Given the description of an element on the screen output the (x, y) to click on. 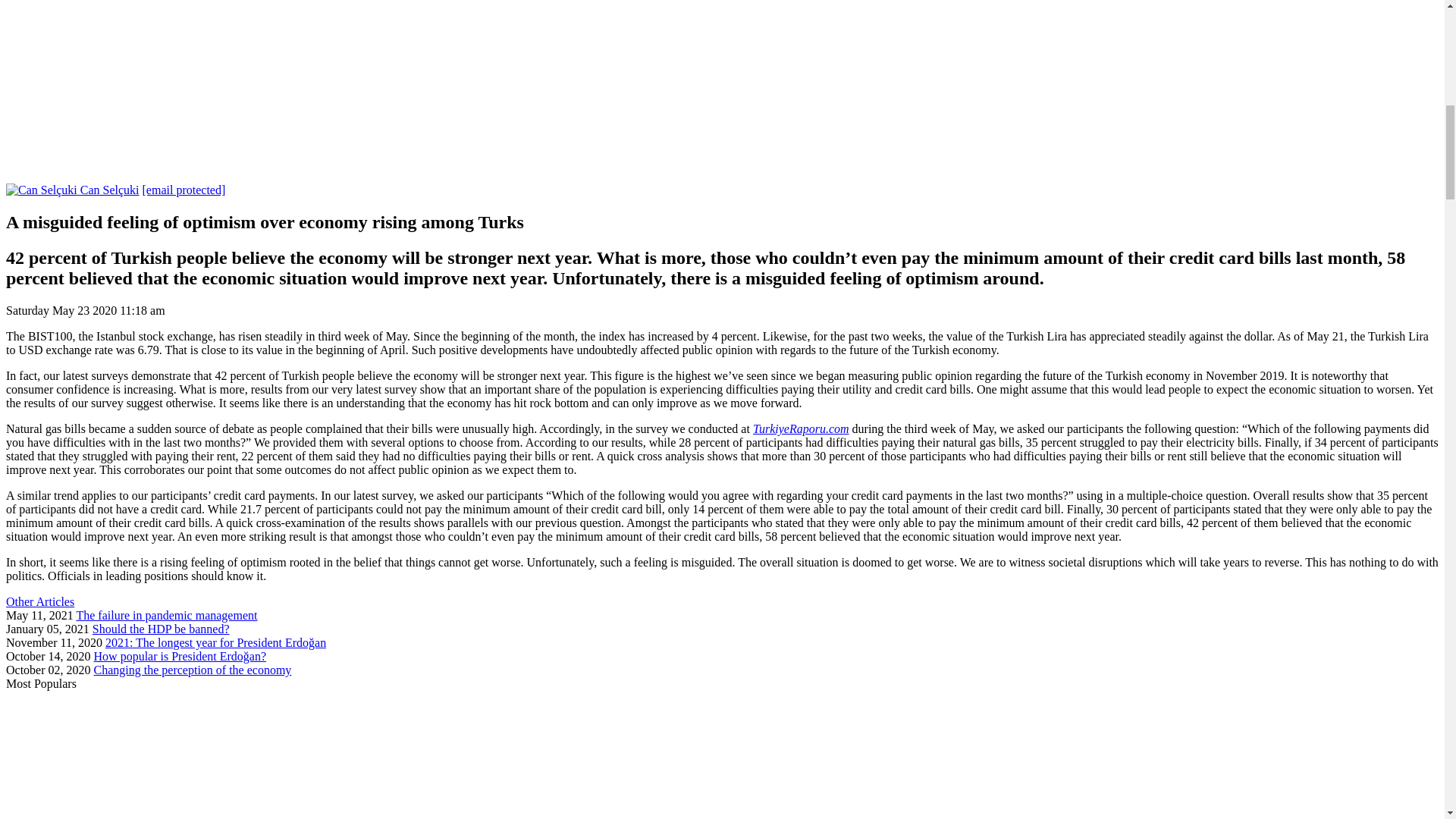
TurkiyeRaporu.com (800, 428)
Other Articles (39, 601)
The failure in pandemic management (166, 615)
Changing the perception of the economy (193, 669)
The failure in pandemic management (166, 615)
Should the HDP be banned? (161, 628)
